Given the description of an element on the screen output the (x, y) to click on. 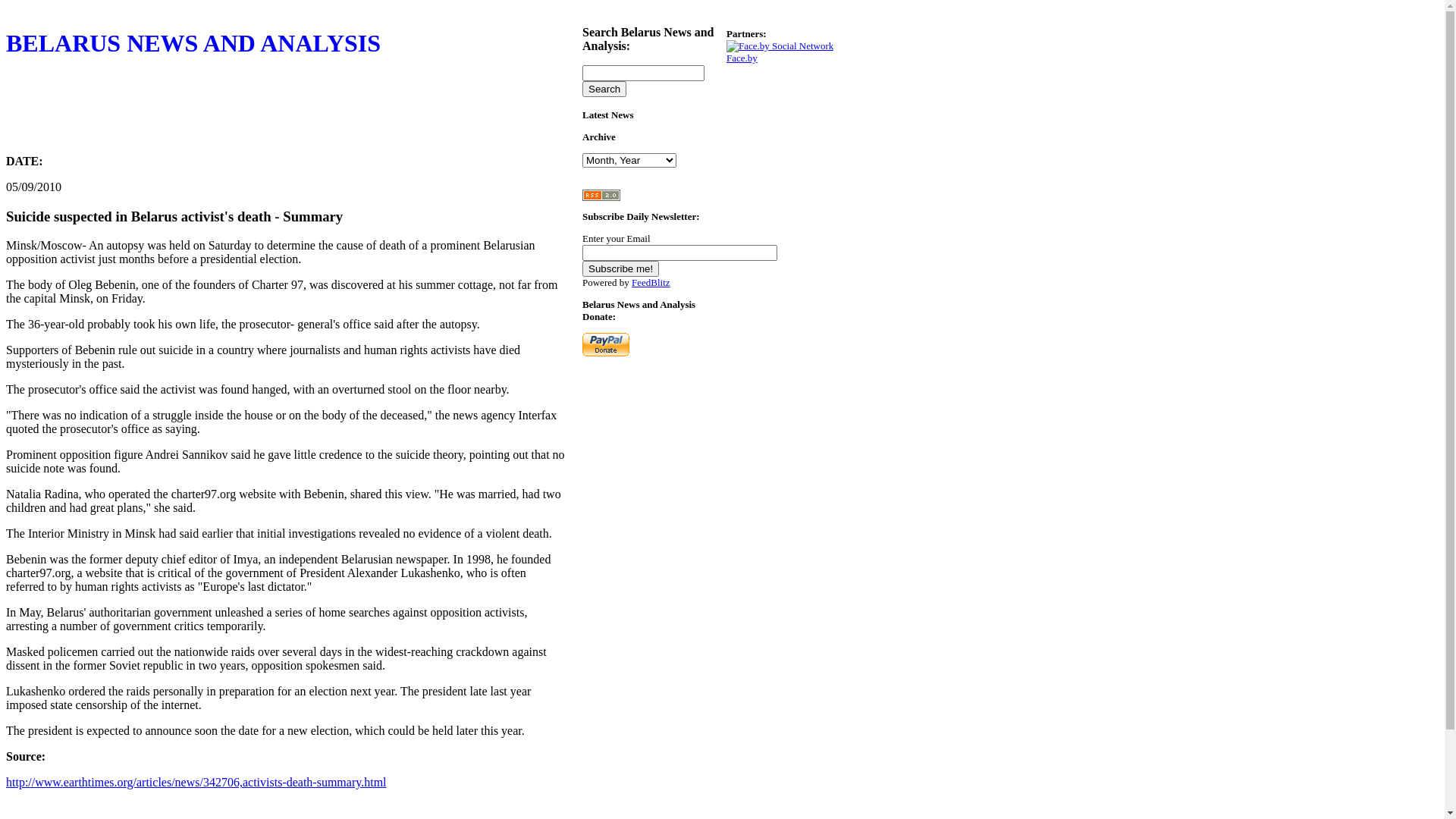
BELARUS NEWS AND ANALYSIS Element type: text (286, 86)
Face.by Element type: text (779, 51)
FeedBlitz Element type: text (650, 282)
Advertisement Element type: hover (282, 108)
Search Element type: text (604, 89)
Subscribe me! Element type: text (620, 268)
